Given the description of an element on the screen output the (x, y) to click on. 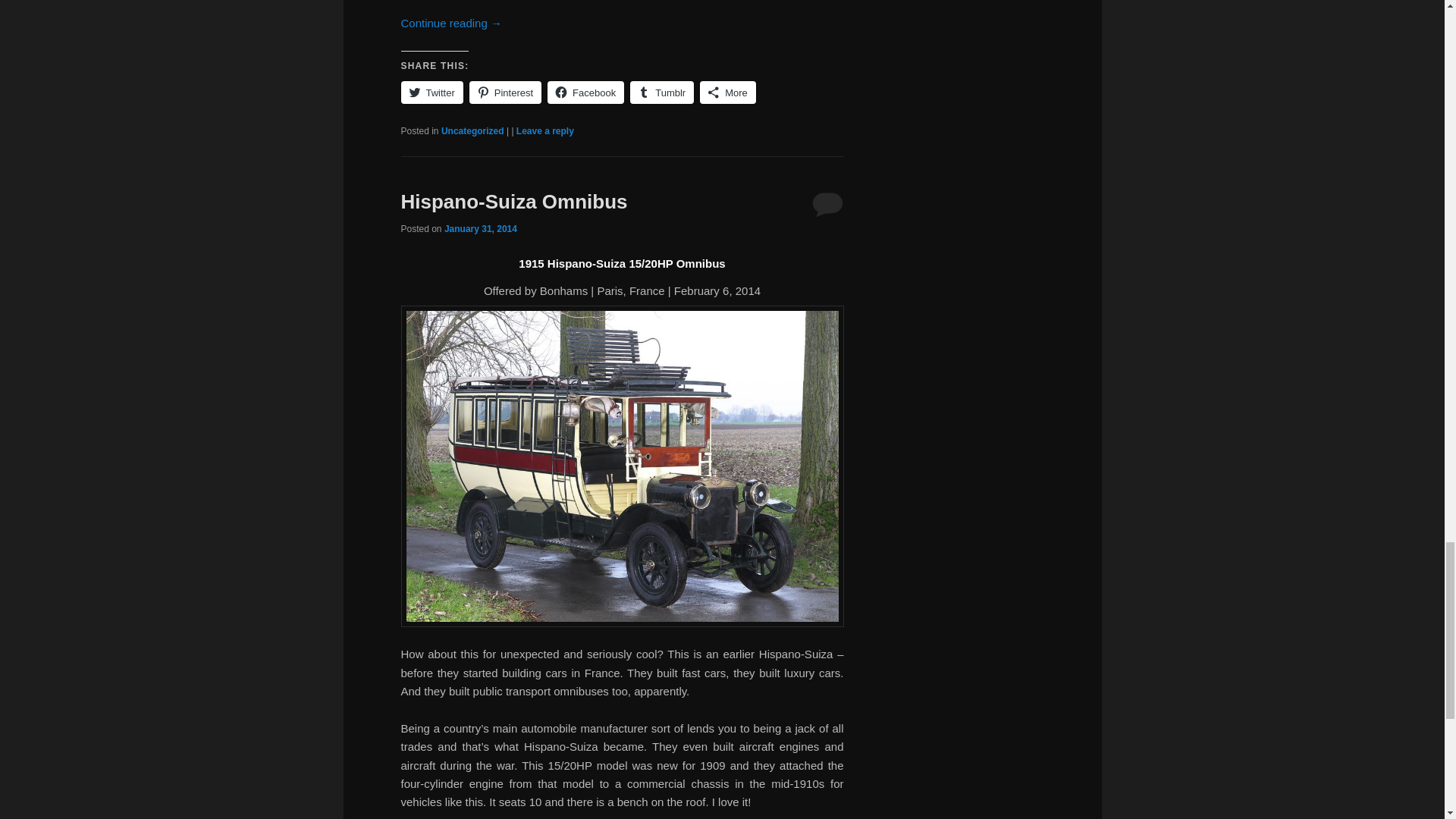
Click to share on Pinterest (504, 92)
Click to share on Twitter (431, 92)
